Given the description of an element on the screen output the (x, y) to click on. 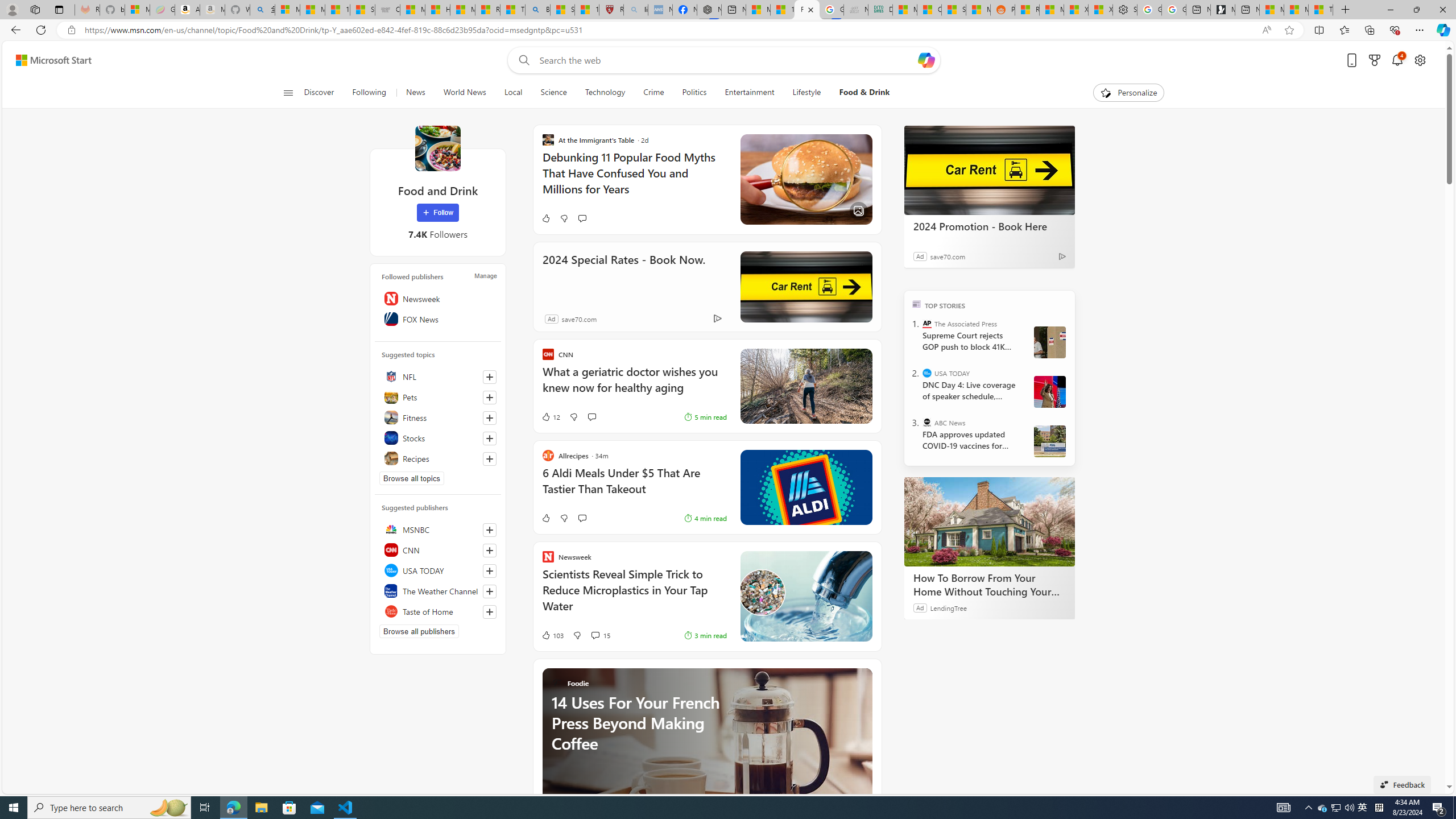
Browse all topics (412, 477)
2024 Promotion - Book Here (988, 226)
save70.com (579, 318)
Stocks (437, 437)
